Given the description of an element on the screen output the (x, y) to click on. 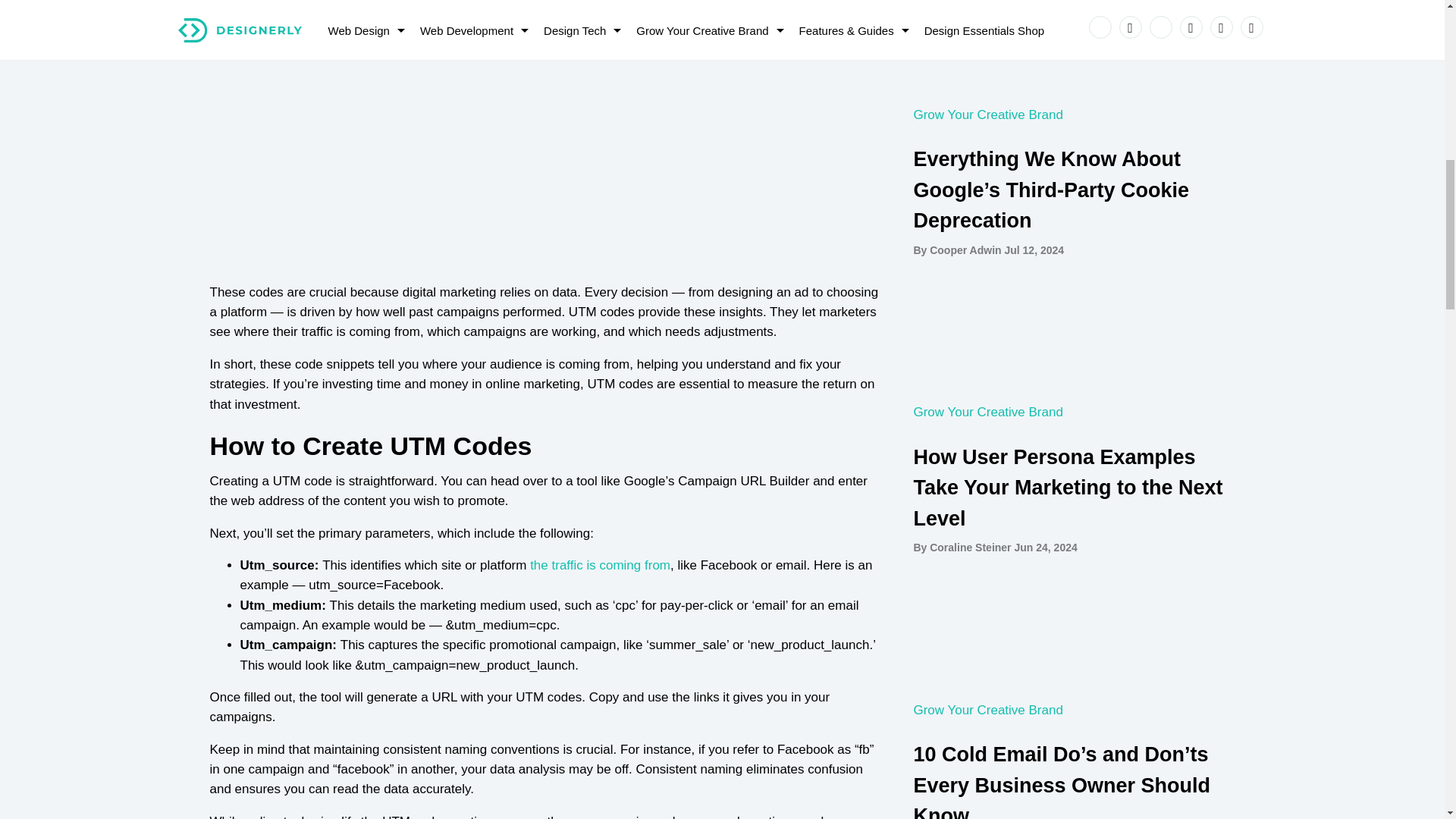
the traffic is coming from (599, 564)
